Given the description of an element on the screen output the (x, y) to click on. 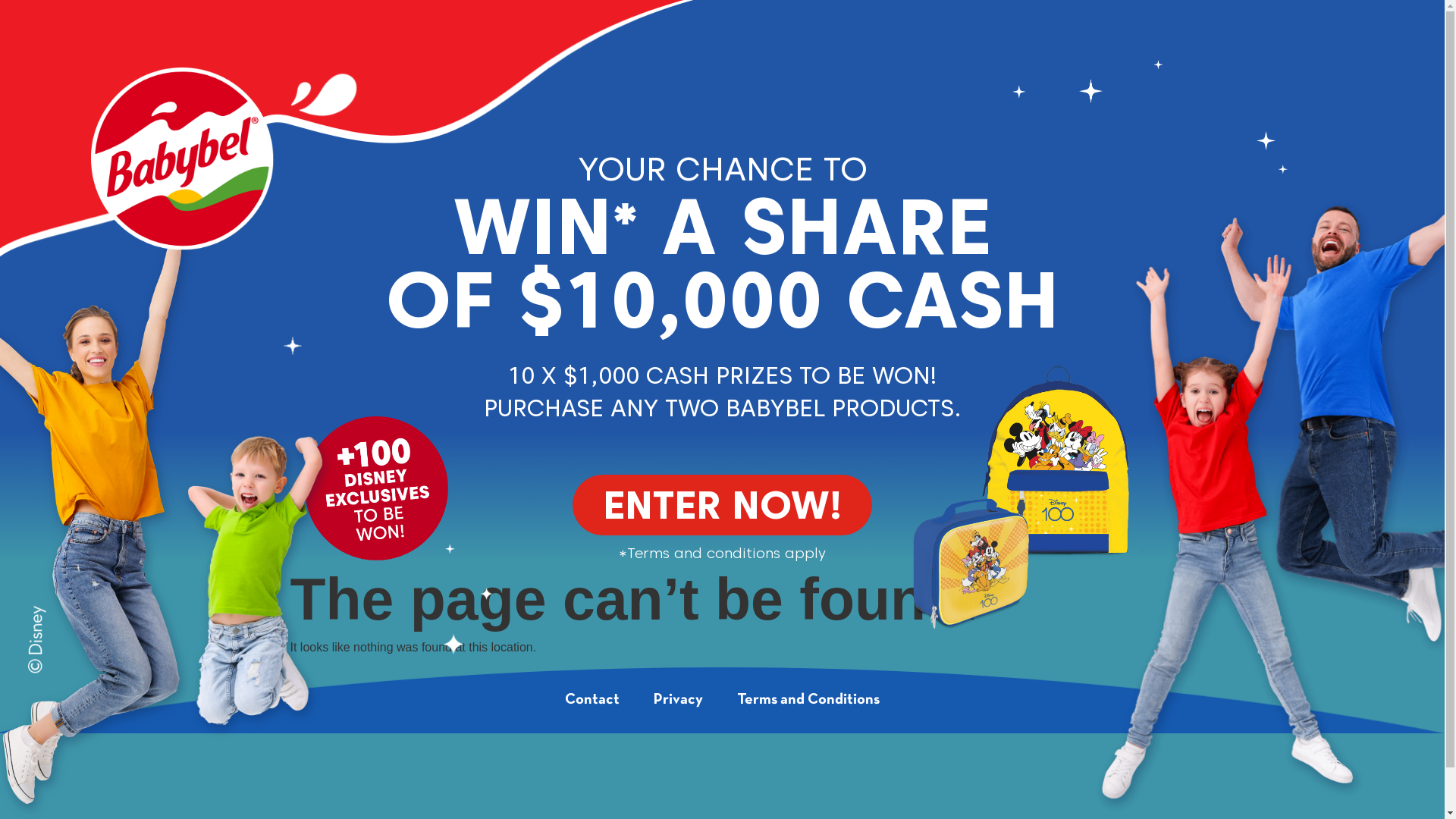
ENTER NOW! Element type: text (722, 504)
Contact Element type: text (591, 700)
Terms and Conditions Element type: text (808, 700)
Privacy Element type: text (677, 700)
